Given the description of an element on the screen output the (x, y) to click on. 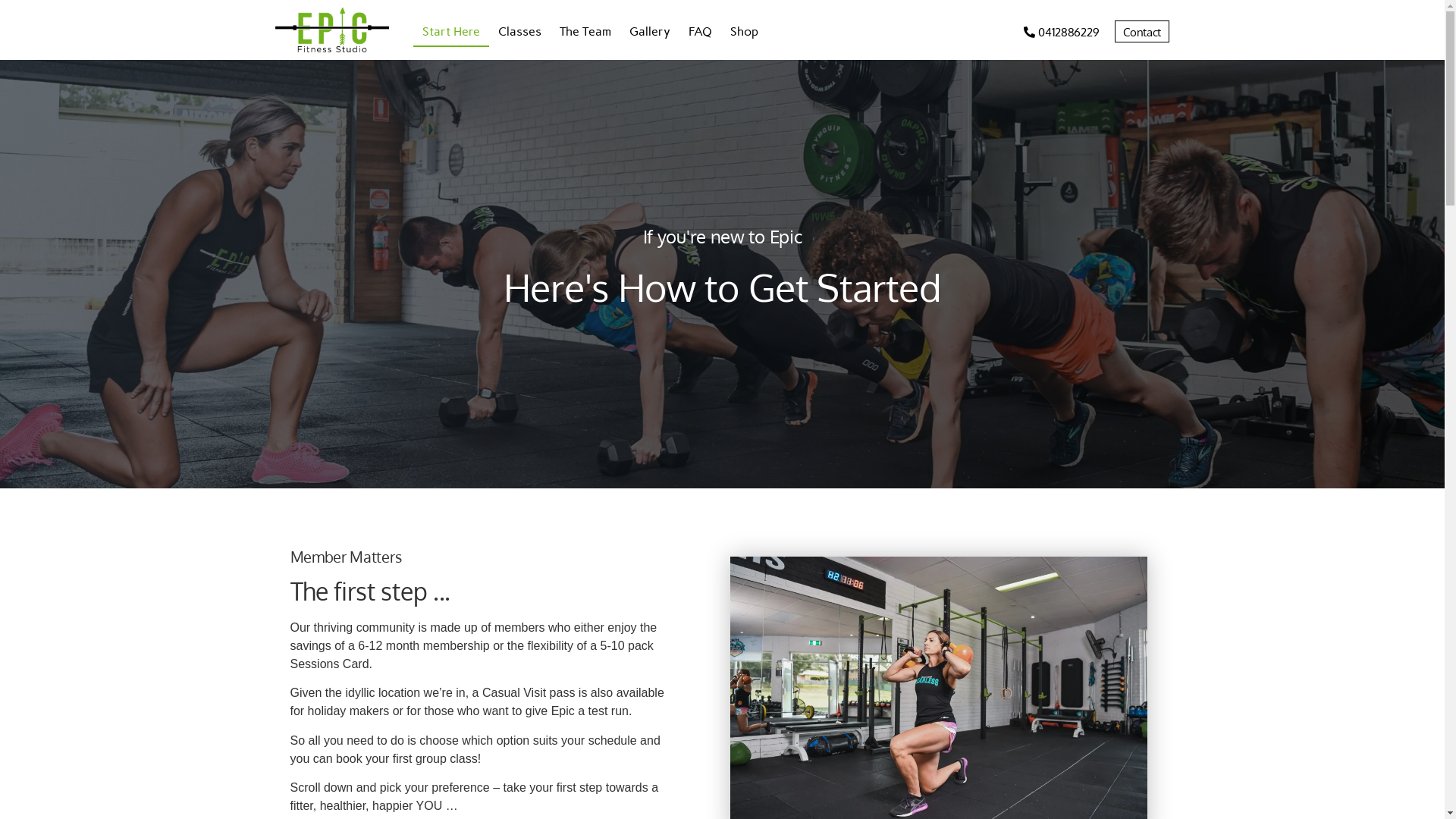
0412886229 Element type: text (1061, 31)
Shop Element type: text (744, 31)
Contact Element type: text (1141, 31)
FAQ Element type: text (700, 31)
Classes Element type: text (519, 31)
Gallery Element type: text (649, 31)
The Team Element type: text (585, 31)
Start Here Element type: text (451, 31)
